Given the description of an element on the screen output the (x, y) to click on. 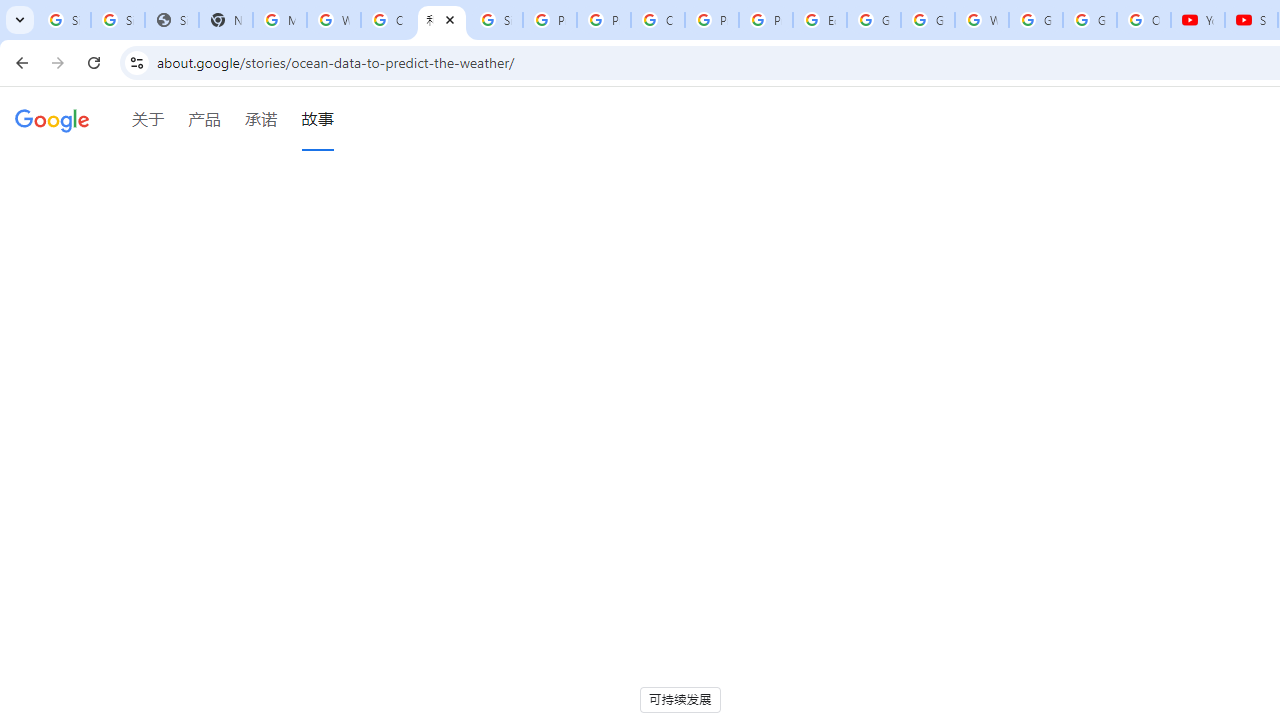
Create your Google Account (657, 20)
Google Account (1089, 20)
YouTube (1197, 20)
Create your Google Account (387, 20)
Sign in - Google Accounts (117, 20)
